Given the description of an element on the screen output the (x, y) to click on. 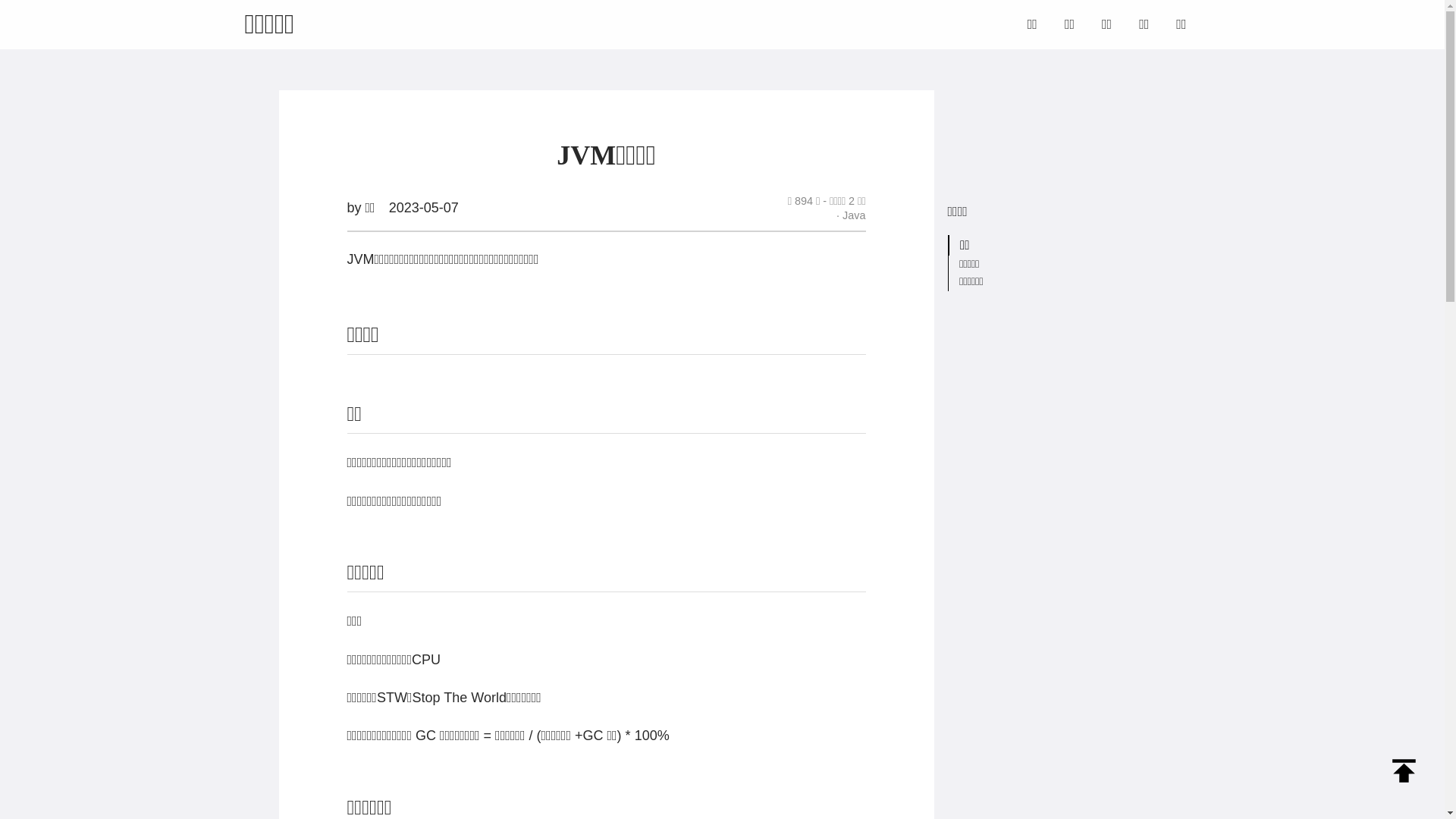
Java Element type: text (850, 215)
